Given the description of an element on the screen output the (x, y) to click on. 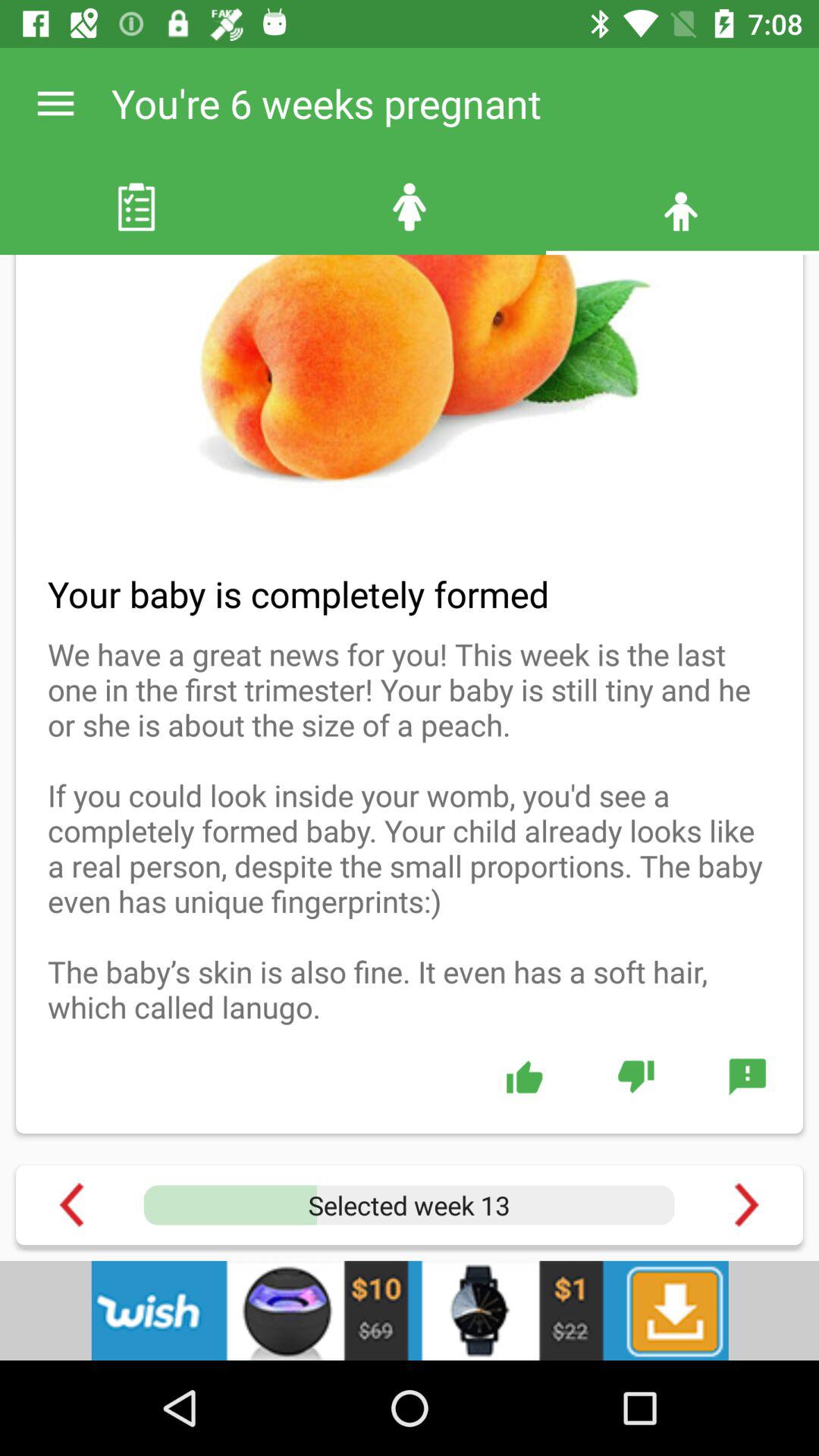
like button (524, 1076)
